Given the description of an element on the screen output the (x, y) to click on. 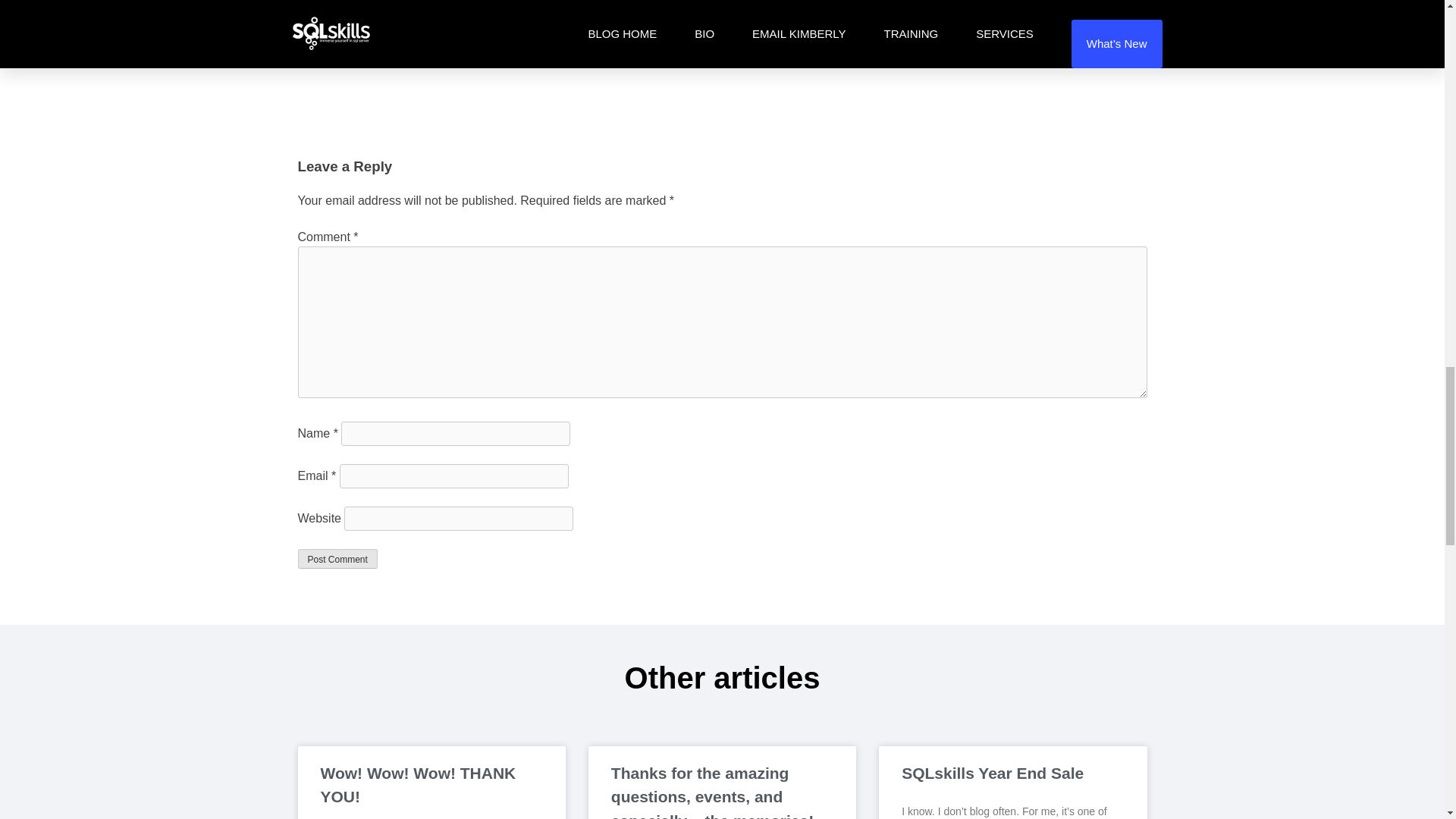
Post Comment (337, 558)
Post Comment (337, 558)
Wow! Wow! Wow! THANK YOU! (417, 784)
SQLskills Year End Sale (992, 773)
